Given the description of an element on the screen output the (x, y) to click on. 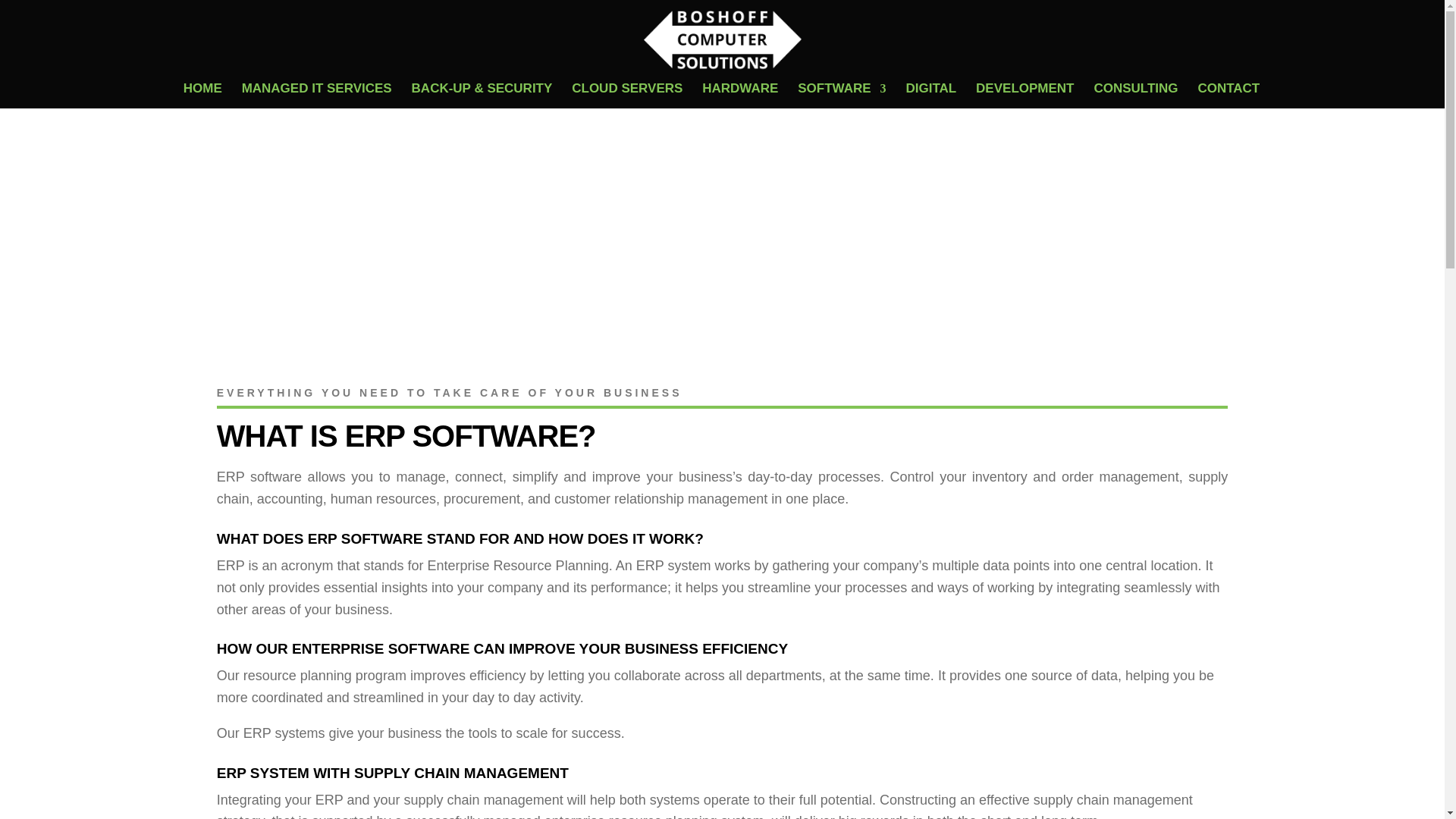
DEVELOPMENT (1024, 95)
HOME (202, 95)
CONTACT (1227, 95)
HARDWARE (739, 95)
MANAGED IT SERVICES (316, 95)
CLOUD SERVERS (627, 95)
SOFTWARE (841, 95)
DIGITAL (930, 95)
CONSULTING (1135, 95)
